Given the description of an element on the screen output the (x, y) to click on. 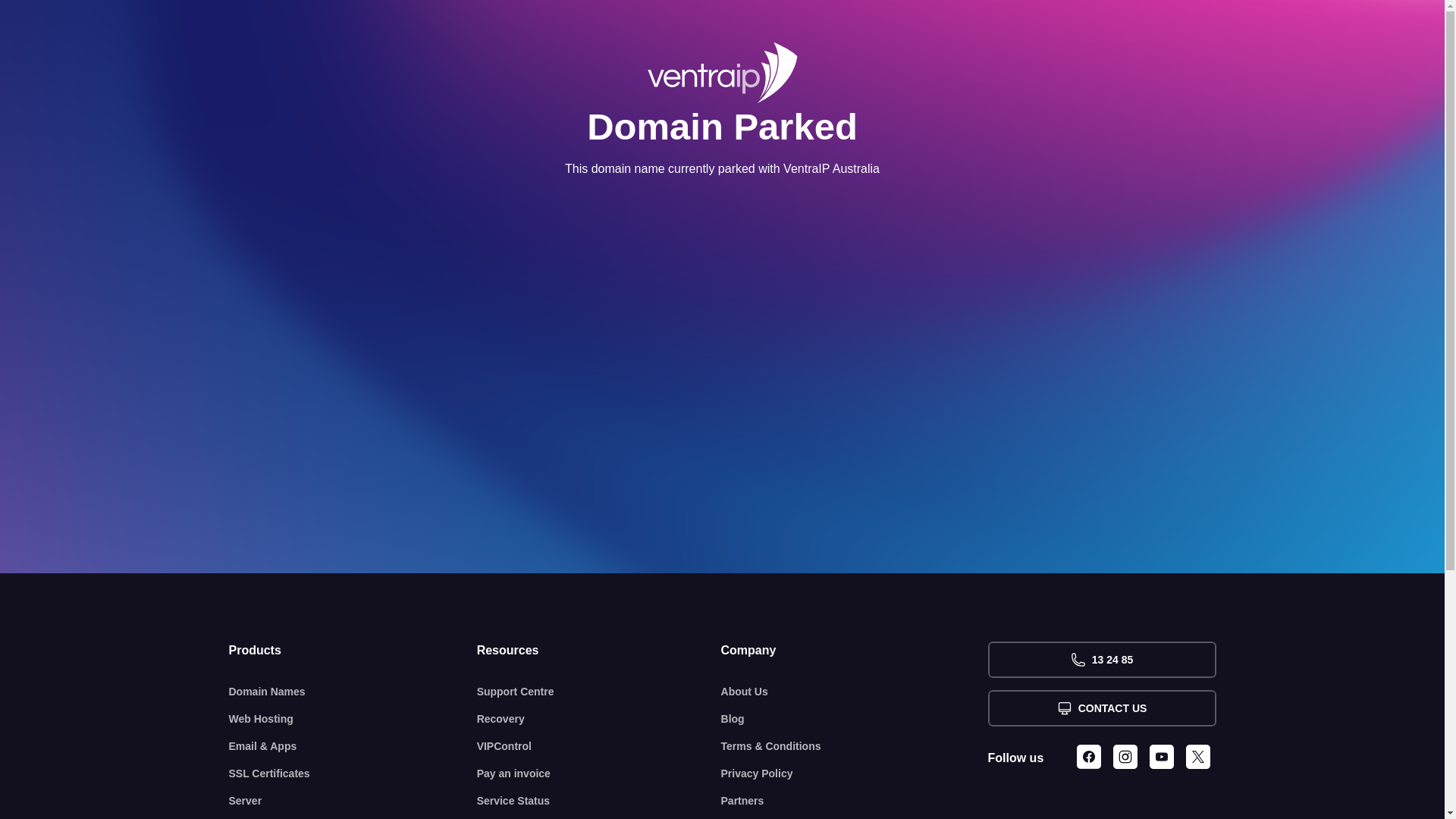
Service Status Element type: text (598, 800)
13 24 85 Element type: text (1101, 659)
Server Element type: text (352, 800)
SSL Certificates Element type: text (352, 773)
Partners Element type: text (854, 800)
Blog Element type: text (854, 718)
Domain Names Element type: text (352, 691)
Recovery Element type: text (598, 718)
Email & Apps Element type: text (352, 745)
CONTACT US Element type: text (1101, 708)
About Us Element type: text (854, 691)
Pay an invoice Element type: text (598, 773)
Web Hosting Element type: text (352, 718)
Terms & Conditions Element type: text (854, 745)
Privacy Policy Element type: text (854, 773)
Support Centre Element type: text (598, 691)
VIPControl Element type: text (598, 745)
